Given the description of an element on the screen output the (x, y) to click on. 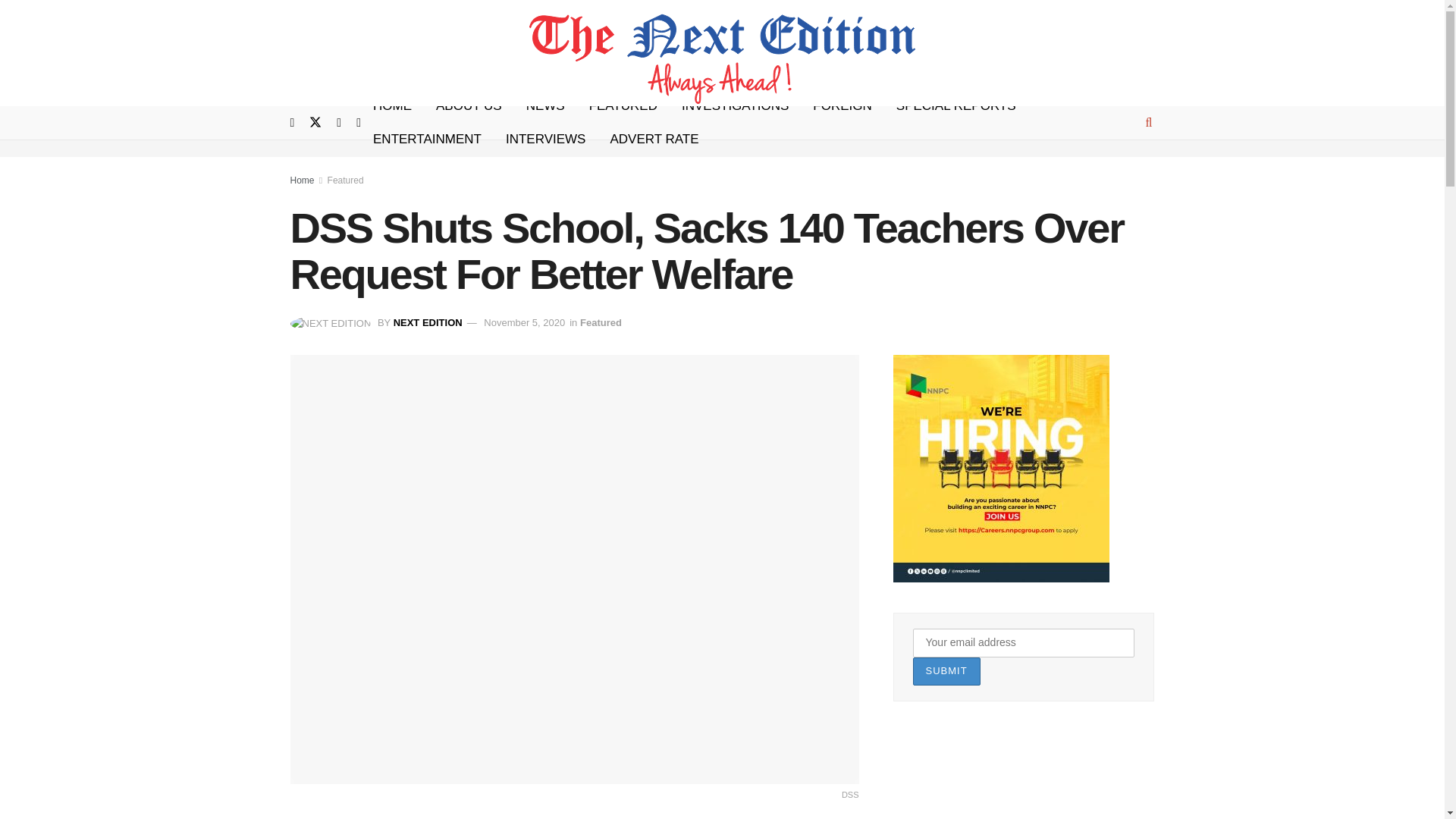
HOME (392, 105)
Submit (945, 671)
Home (301, 180)
NEXT EDITION (428, 322)
Featured (345, 180)
INTERVIEWS (544, 139)
SPECIAL REPORTS (955, 105)
FEATURED (622, 105)
November 5, 2020 (523, 322)
FOREIGN (841, 105)
NEWS (544, 105)
Featured (600, 322)
INVESTIGATIONS (734, 105)
ABOUT US (468, 105)
